Given the description of an element on the screen output the (x, y) to click on. 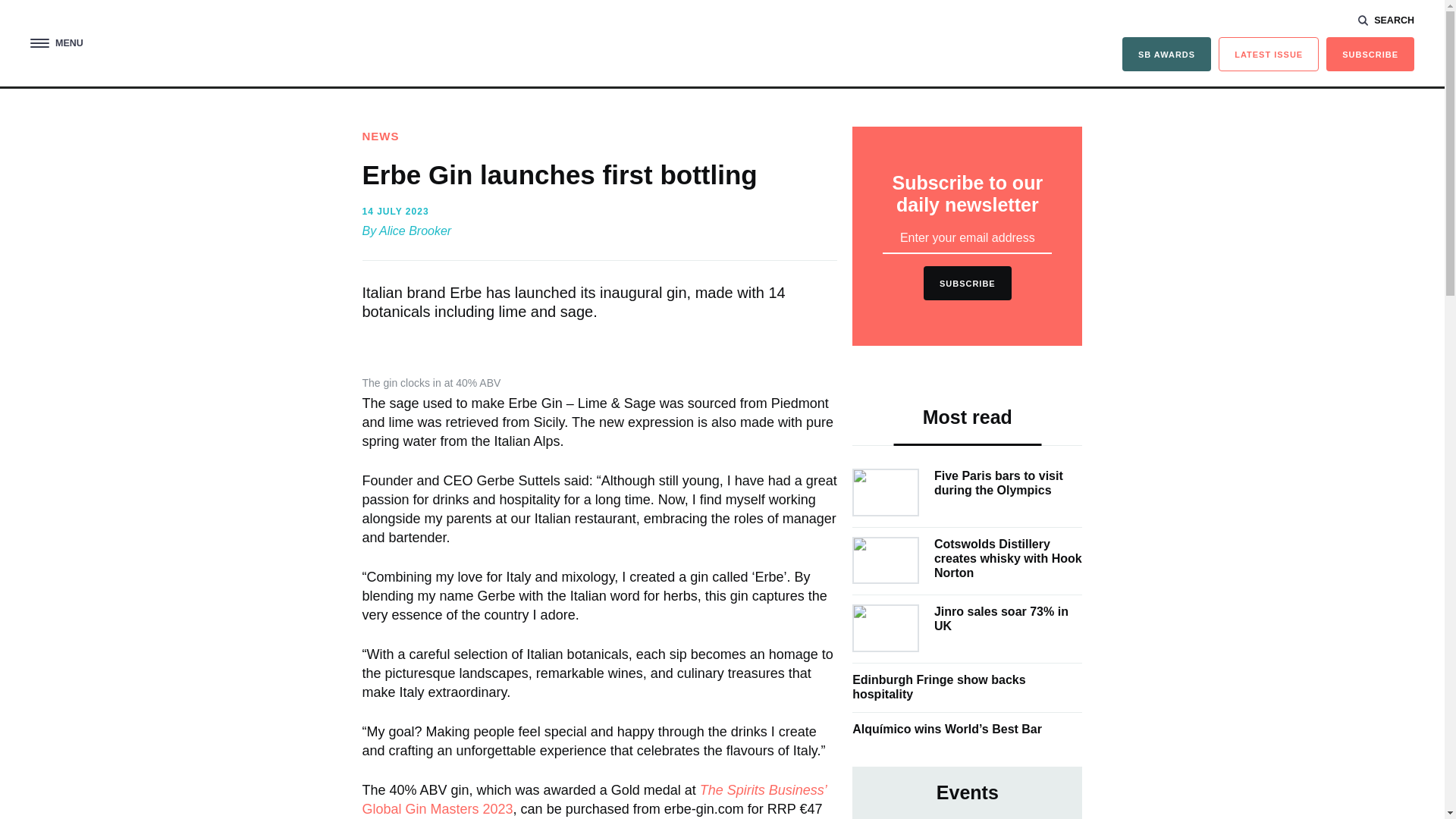
SUBSCRIBE (1369, 53)
LATEST ISSUE (1268, 53)
SEARCH (1385, 20)
The Spirits Business (722, 46)
MENU (56, 43)
SB AWARDS (1166, 53)
